Given the description of an element on the screen output the (x, y) to click on. 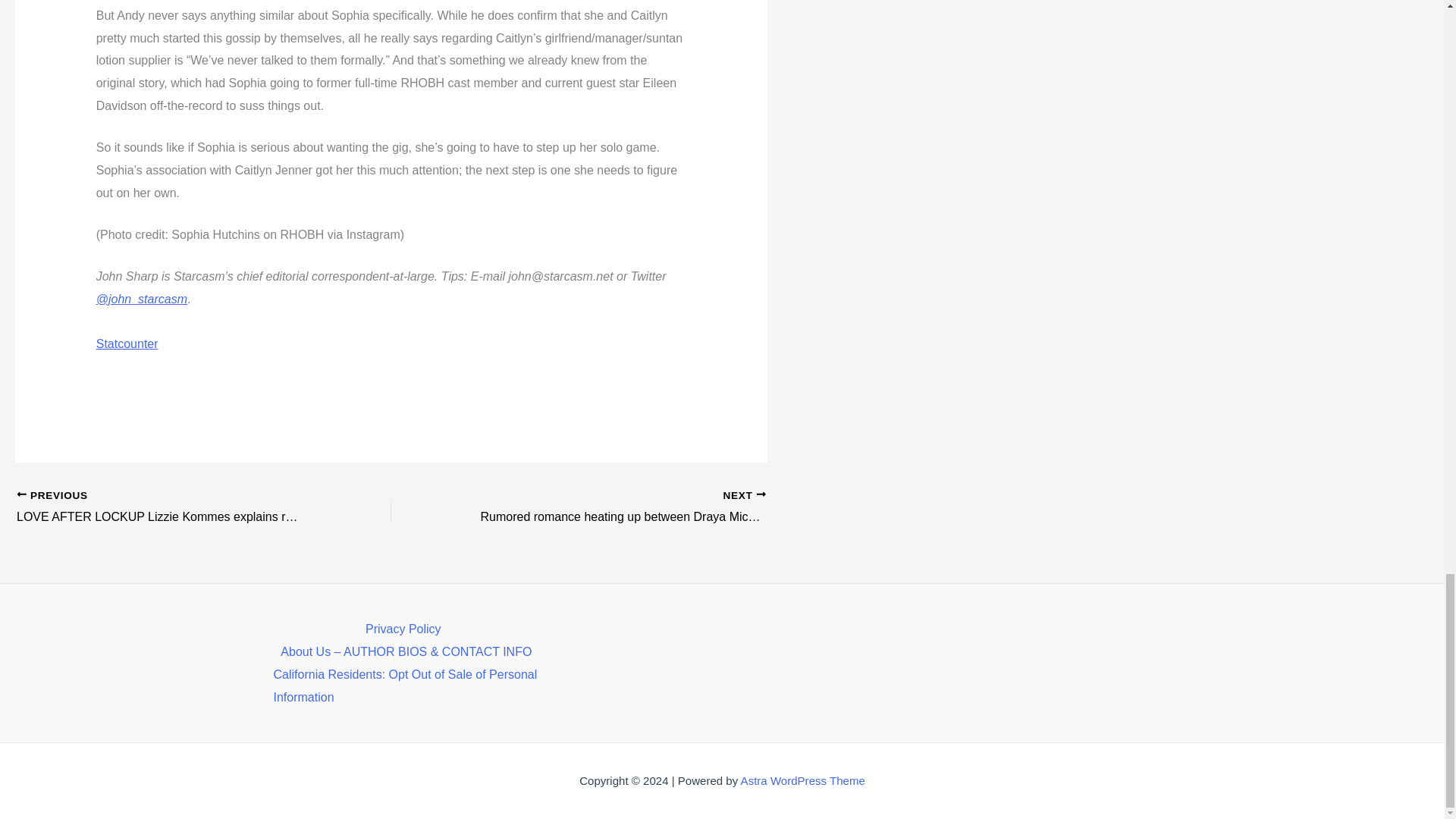
LOVE AFTER LOCKUP Lizzie Kommes explains recent arrest (166, 507)
